Given the description of an element on the screen output the (x, y) to click on. 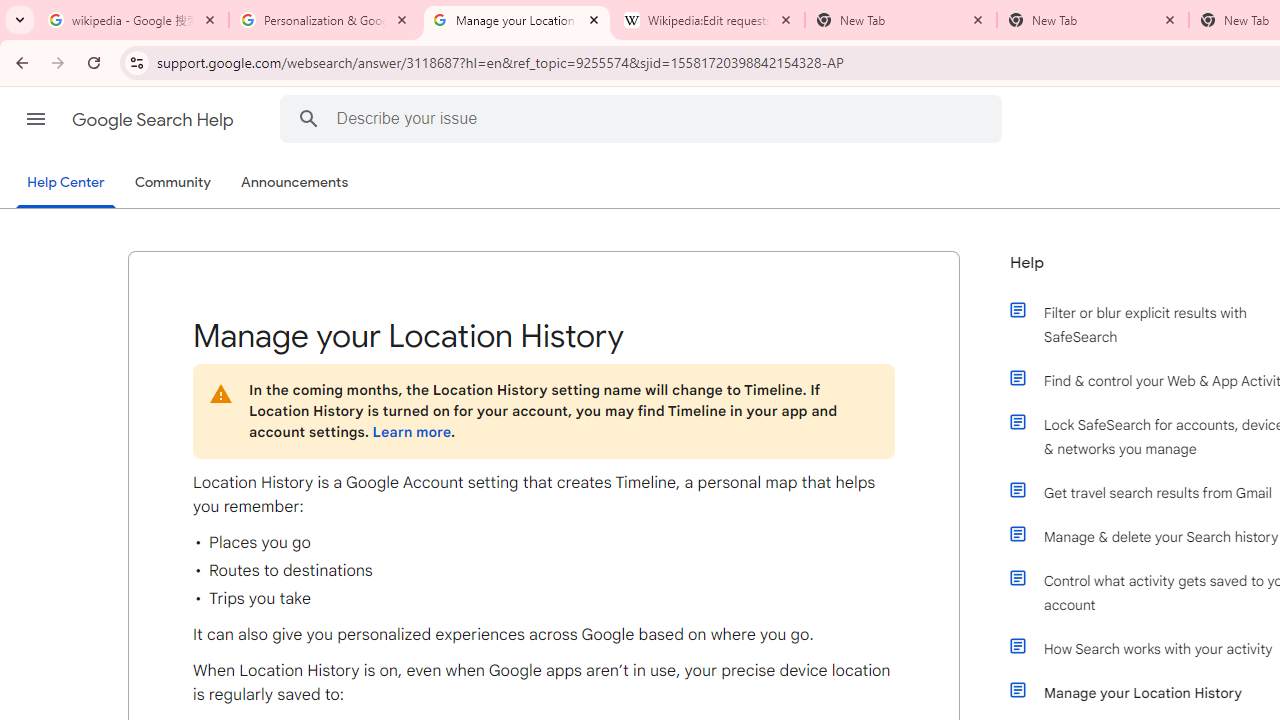
Announcements (294, 183)
Help Center (65, 183)
Community (171, 183)
Manage your Location History - Google Search Help (517, 20)
New Tab (1093, 20)
Search Help Center (308, 118)
